Given the description of an element on the screen output the (x, y) to click on. 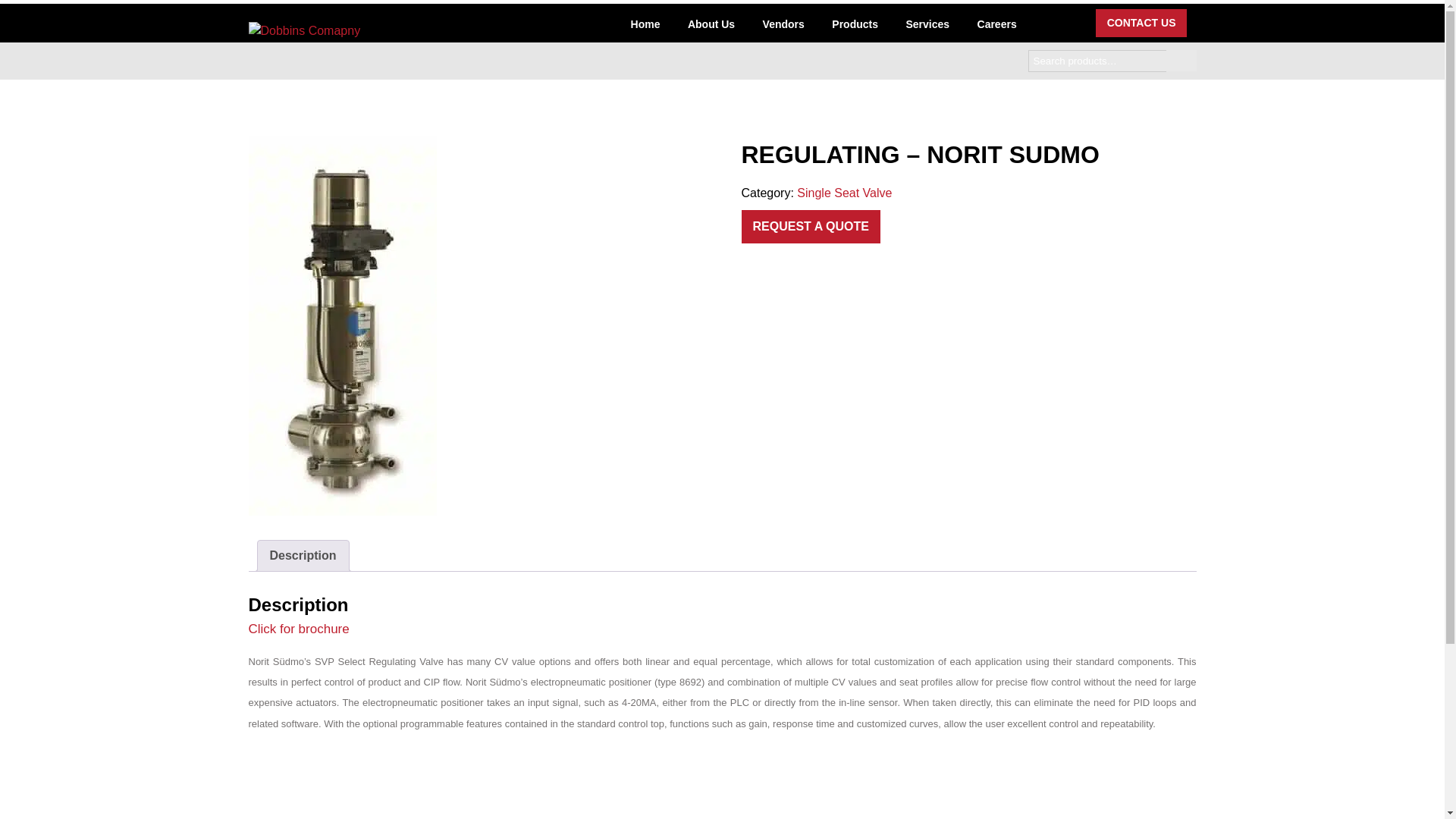
Vendors (783, 26)
REQUEST A QUOTE (810, 226)
About Us (711, 26)
Description (302, 555)
CONTACT US (1142, 22)
Careers (997, 26)
Click for brochure (298, 628)
Products (854, 26)
Single Seat Valve (843, 192)
Services (927, 26)
SEARCH (1181, 60)
Home (645, 26)
